Given the description of an element on the screen output the (x, y) to click on. 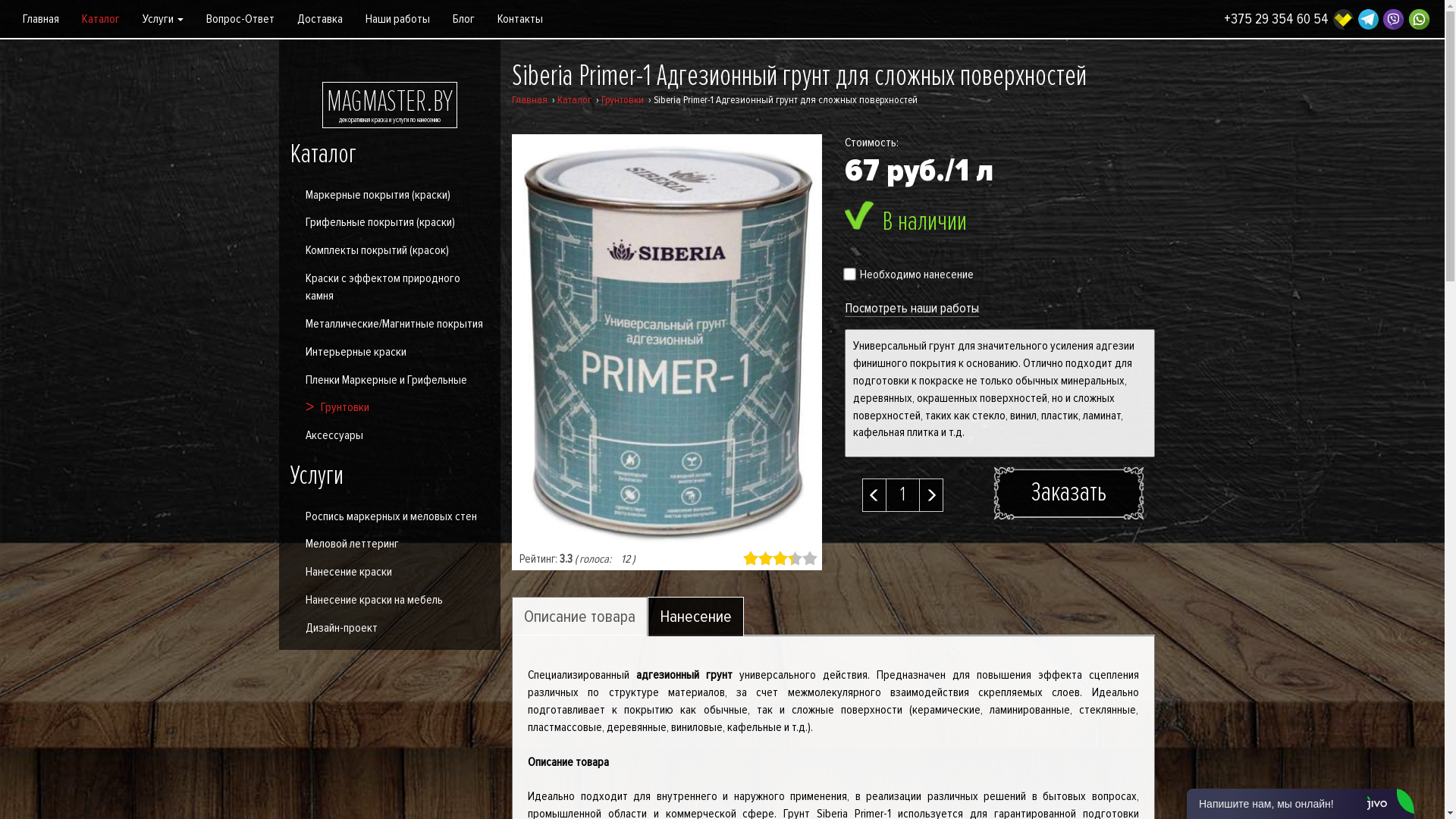
+375 29 354 60 54 Element type: text (1275, 18)
